Given the description of an element on the screen output the (x, y) to click on. 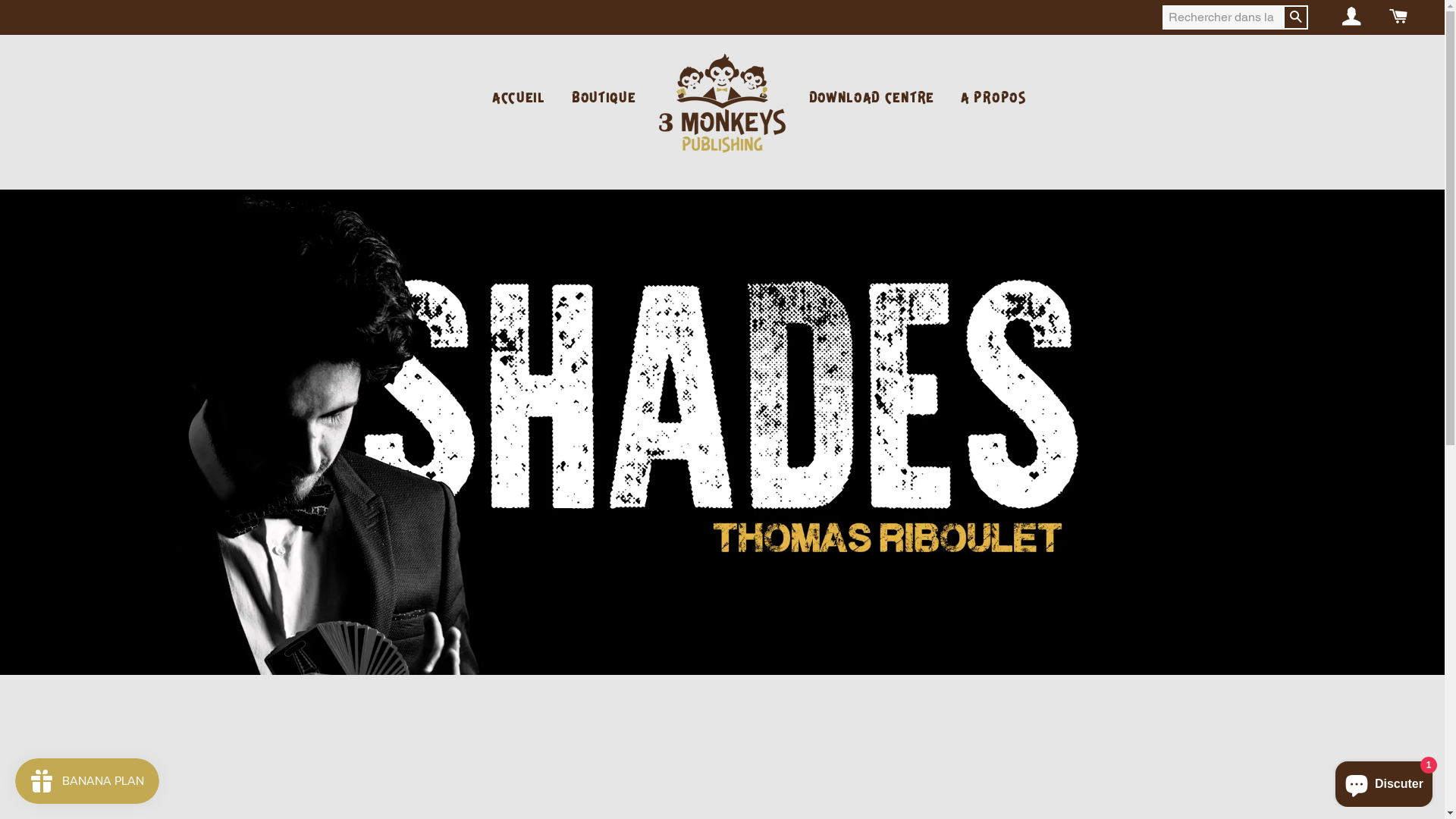
Smile.io Rewards Program Launcher Element type: hover (87, 780)
DOWNLOAD CENTRE Element type: text (871, 98)
Recherche Element type: text (1295, 17)
ACCUEIL Element type: text (518, 98)
BOUTIQUE Element type: text (603, 98)
A PROPOS Element type: text (993, 98)
Chat de la boutique en ligne Shopify Element type: hover (1383, 780)
